Given the description of an element on the screen output the (x, y) to click on. 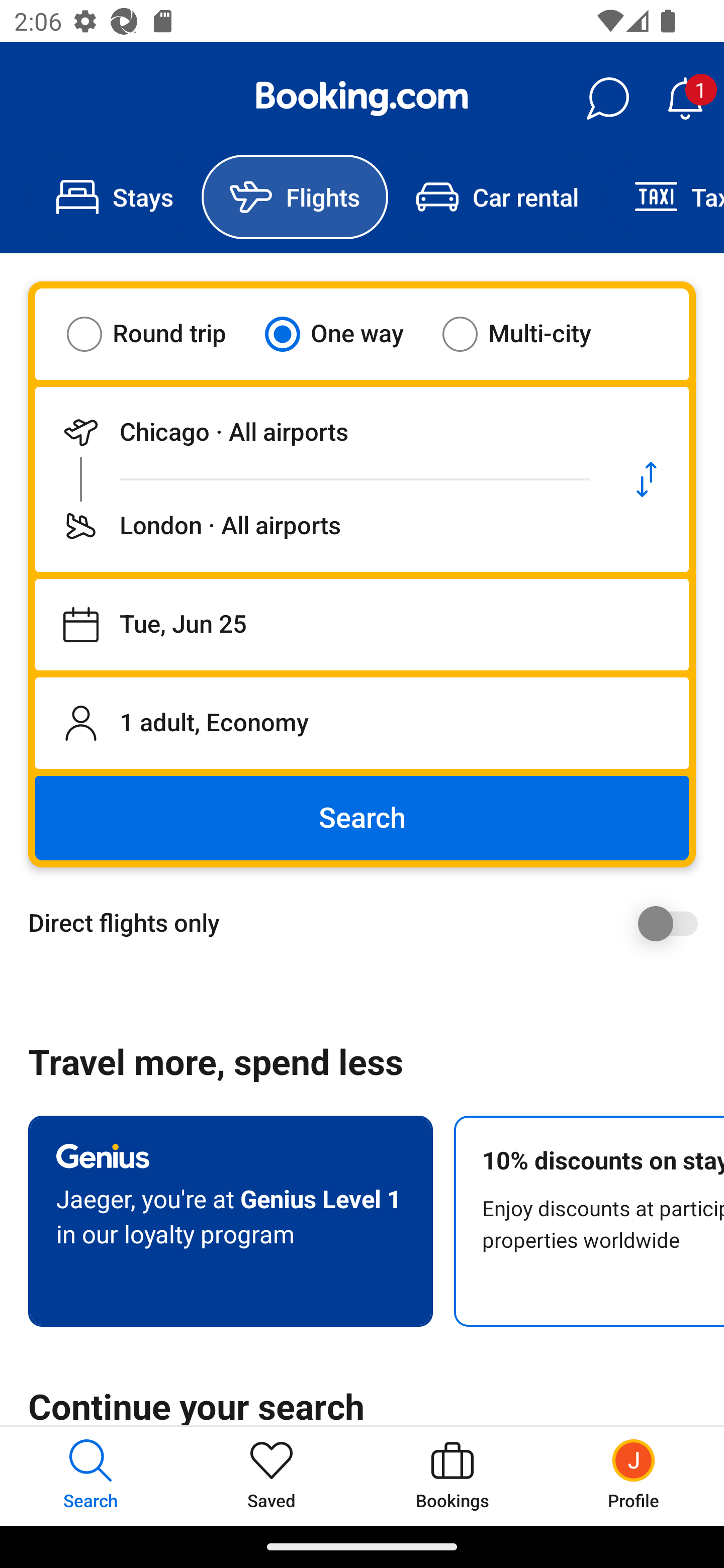
Messages (607, 98)
Notifications (685, 98)
Stays (114, 197)
Flights (294, 197)
Car rental (497, 197)
Taxi (665, 197)
Round trip (158, 333)
Multi-city (528, 333)
Departing from Chicago · All airports (319, 432)
Swap departure location and destination (646, 479)
Flying to London · All airports (319, 525)
Departing on Tue, Jun 25 (361, 624)
1 adult, Economy (361, 722)
Search (361, 818)
Direct flights only (369, 923)
Saved (271, 1475)
Bookings (452, 1475)
Profile (633, 1475)
